Given the description of an element on the screen output the (x, y) to click on. 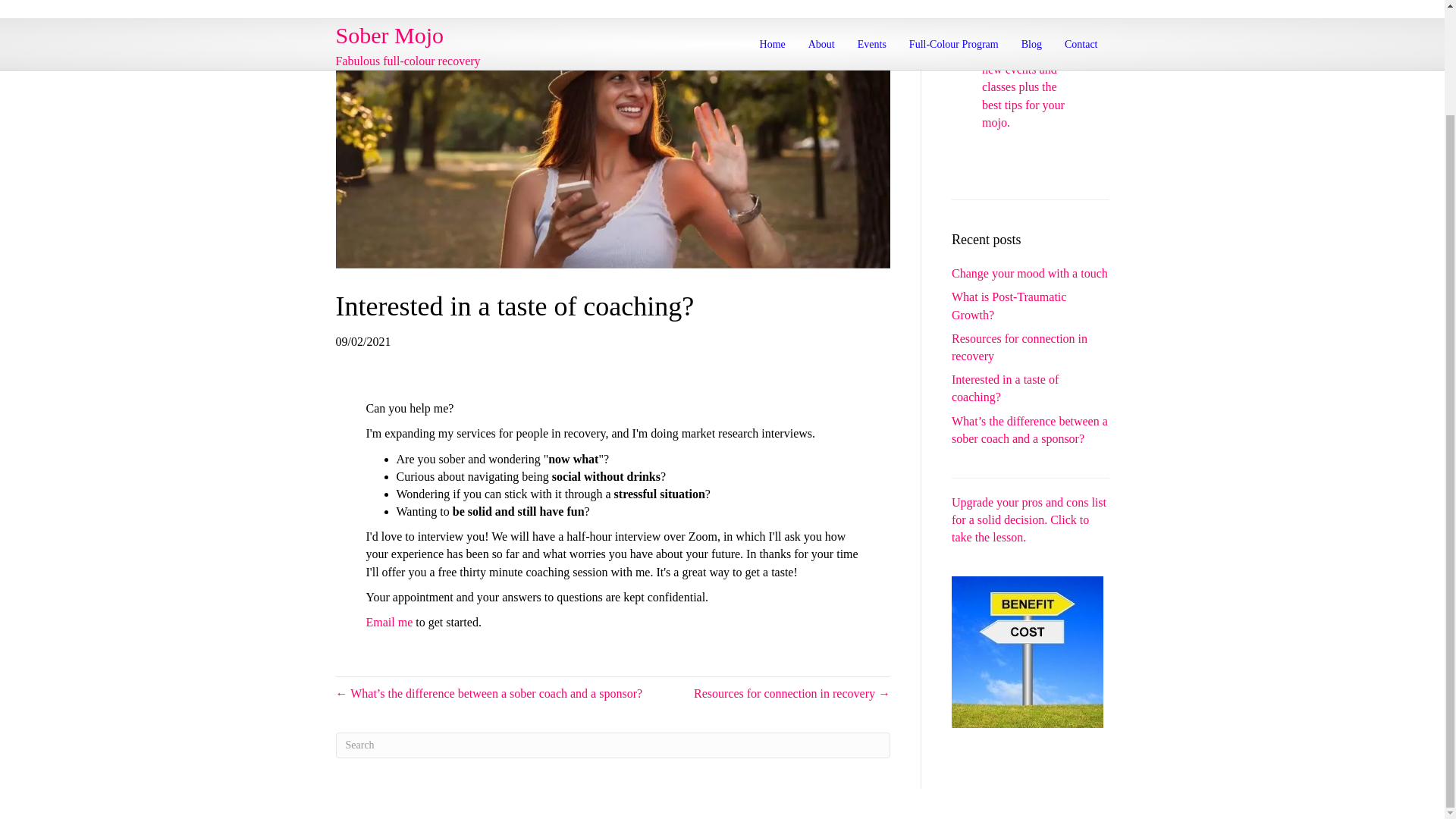
Email me (388, 621)
Change your mood with a touch (1030, 273)
What is Post-Traumatic Growth? (1008, 305)
Interested in a taste of coaching? (1005, 388)
Type and press Enter to search. (611, 745)
Resources for connection in recovery (1019, 347)
